Given the description of an element on the screen output the (x, y) to click on. 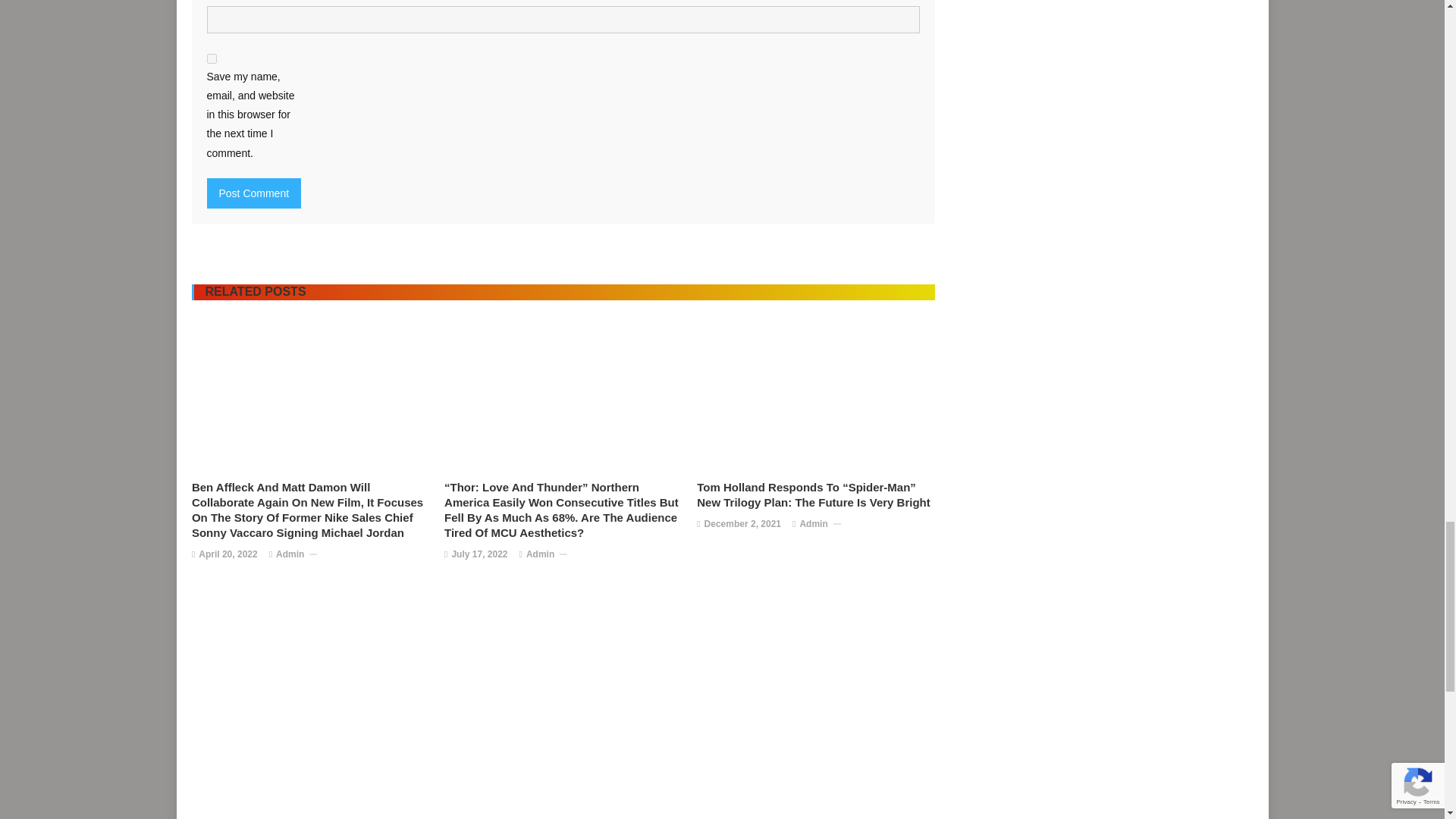
Post Comment (253, 193)
yes (210, 58)
Post Comment (253, 193)
